Given the description of an element on the screen output the (x, y) to click on. 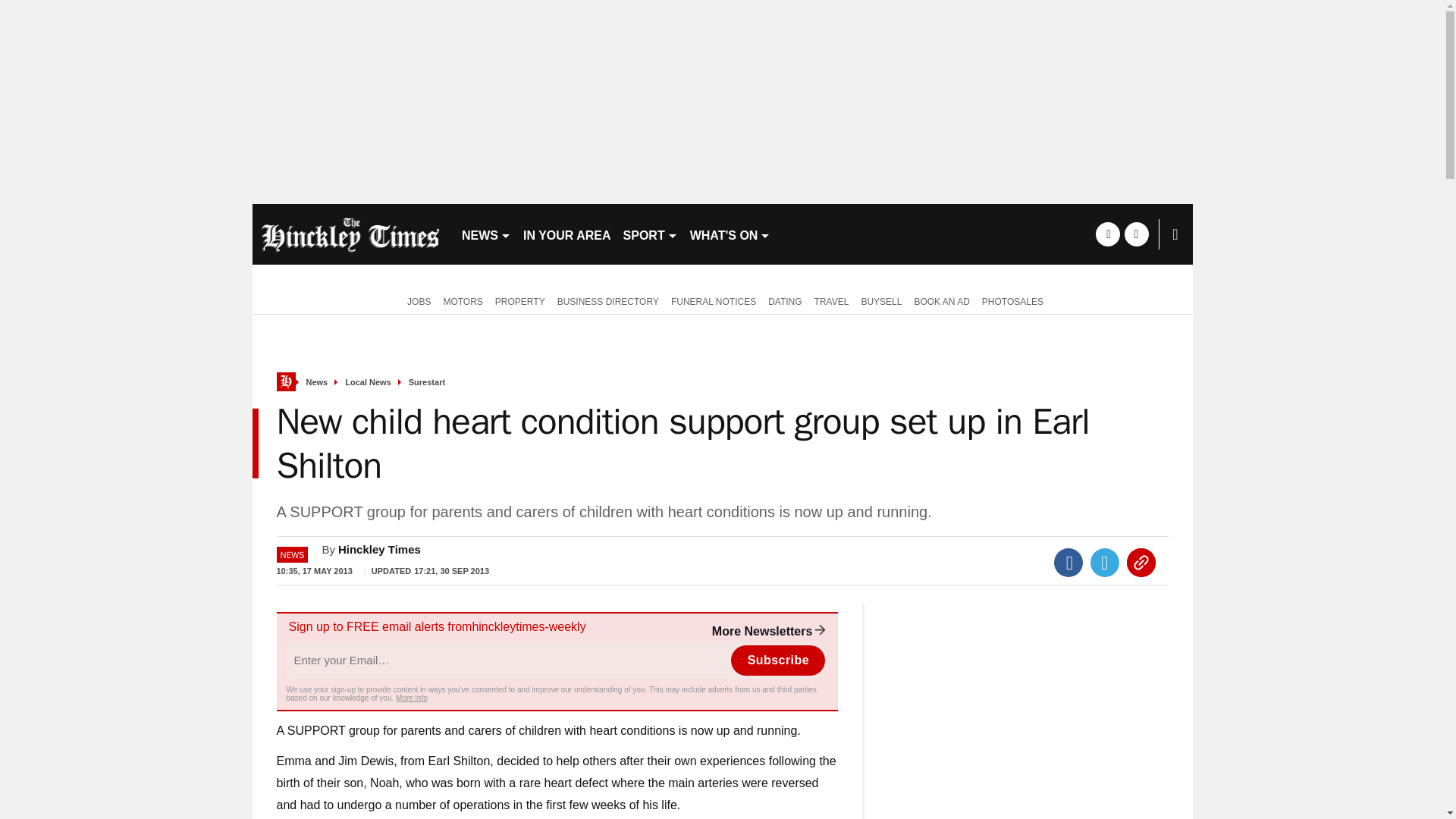
twitter (1136, 233)
PROPERTY (520, 300)
TRAVEL (832, 300)
BUSINESS DIRECTORY (608, 300)
NEWS (485, 233)
JOBS (415, 300)
MOTORS (461, 300)
BOOK AN AD (941, 300)
hinckleytimes (349, 233)
PHOTOSALES (1012, 300)
FUNERAL NOTICES (713, 300)
DATING (784, 300)
facebook (1106, 233)
BUYSELL (880, 300)
Twitter (1104, 562)
